Given the description of an element on the screen output the (x, y) to click on. 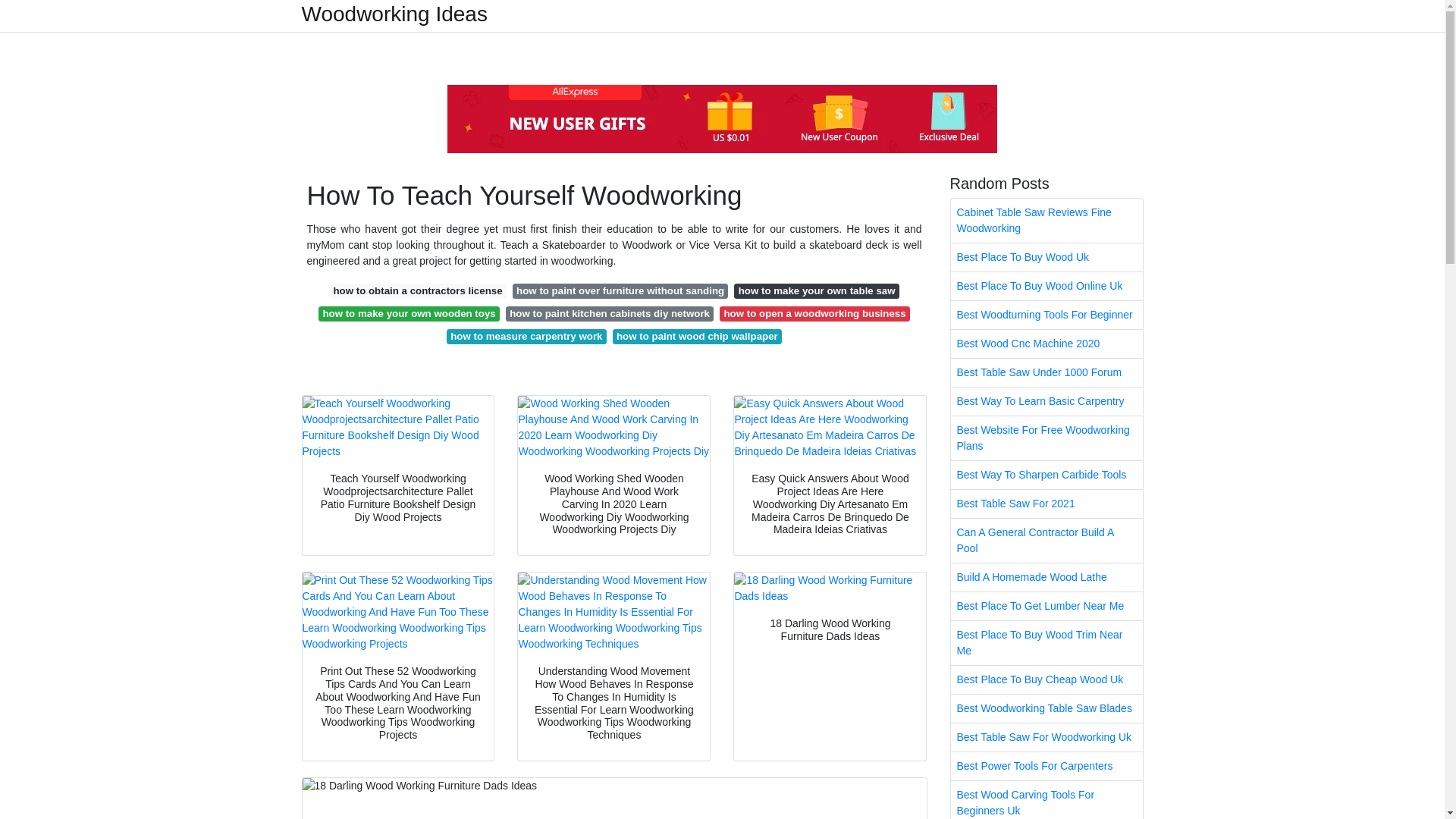
Best Website For Free Woodworking Plans (1046, 438)
Cabinet Table Saw Reviews Fine Woodworking (1046, 220)
Best Woodturning Tools For Beginner (1046, 315)
Best Way To Sharpen Carbide Tools (1046, 474)
how to make your own wooden toys (408, 313)
Woodworking Ideas (394, 13)
how to measure carpentry work (526, 336)
how to paint wood chip wallpaper (696, 336)
Best Place To Buy Wood Online Uk (1046, 285)
Best Table Saw Under 1000 Forum (1046, 372)
Best Place To Buy Wood Uk (1046, 257)
how to open a woodworking business (814, 313)
how to make your own table saw (816, 290)
how to paint kitchen cabinets diy network (609, 313)
Woodworking Ideas (394, 13)
